Given the description of an element on the screen output the (x, y) to click on. 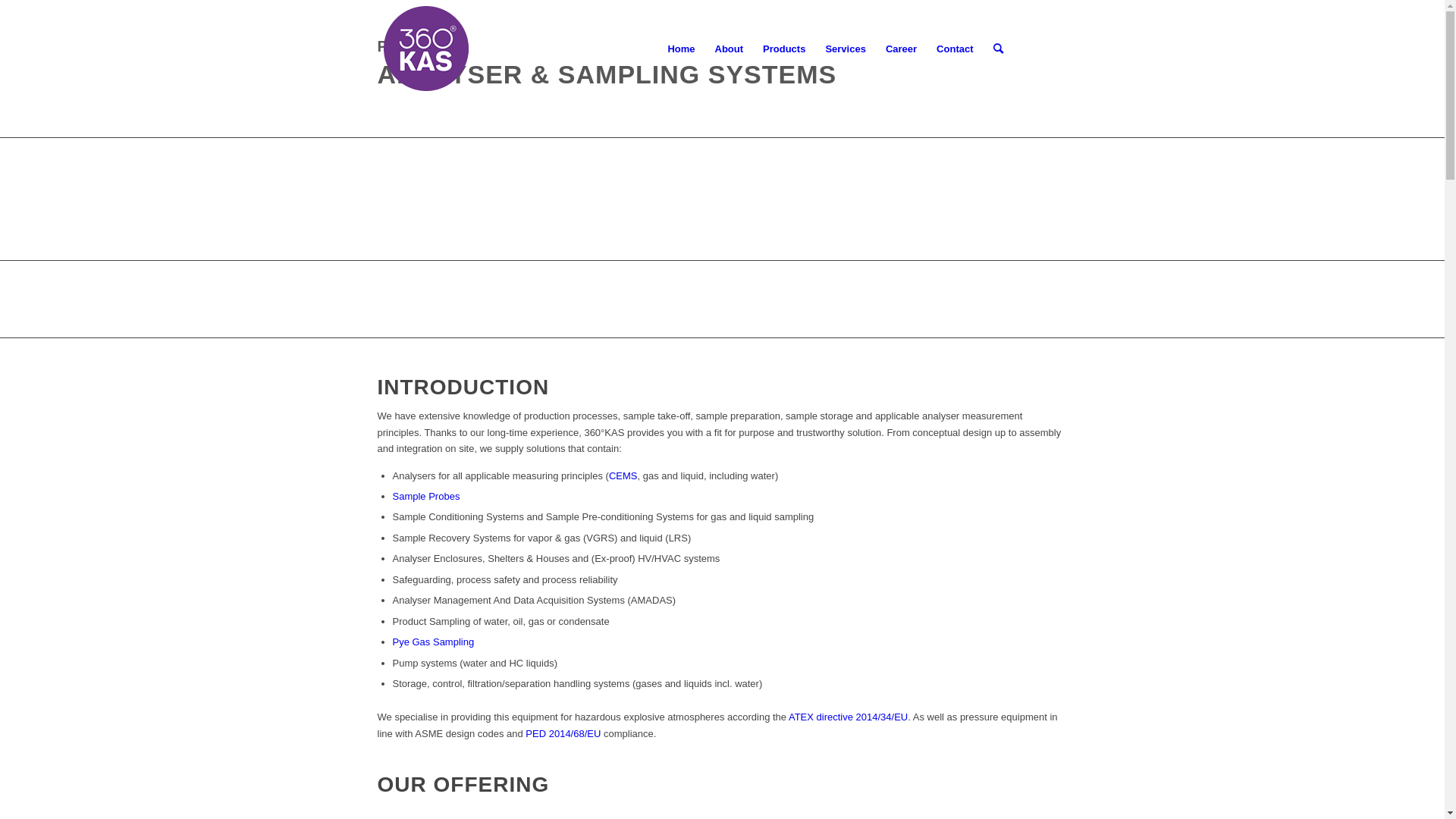
CEMS Element type: text (622, 475)
Contact Element type: text (954, 49)
360kas Element type: hover (426, 49)
Pye Gas Sampling Element type: text (433, 641)
Home Element type: text (680, 49)
ATEX directive 2014/34/EU Element type: text (847, 716)
Services Element type: text (845, 49)
Sample Probes Element type: text (426, 496)
360kas Element type: hover (471, 49)
LinkedIn Element type: hover (1055, 48)
Career Element type: text (900, 49)
About Element type: text (729, 49)
Products Element type: text (784, 49)
PED 2014/68/EU Element type: text (562, 733)
